Given the description of an element on the screen output the (x, y) to click on. 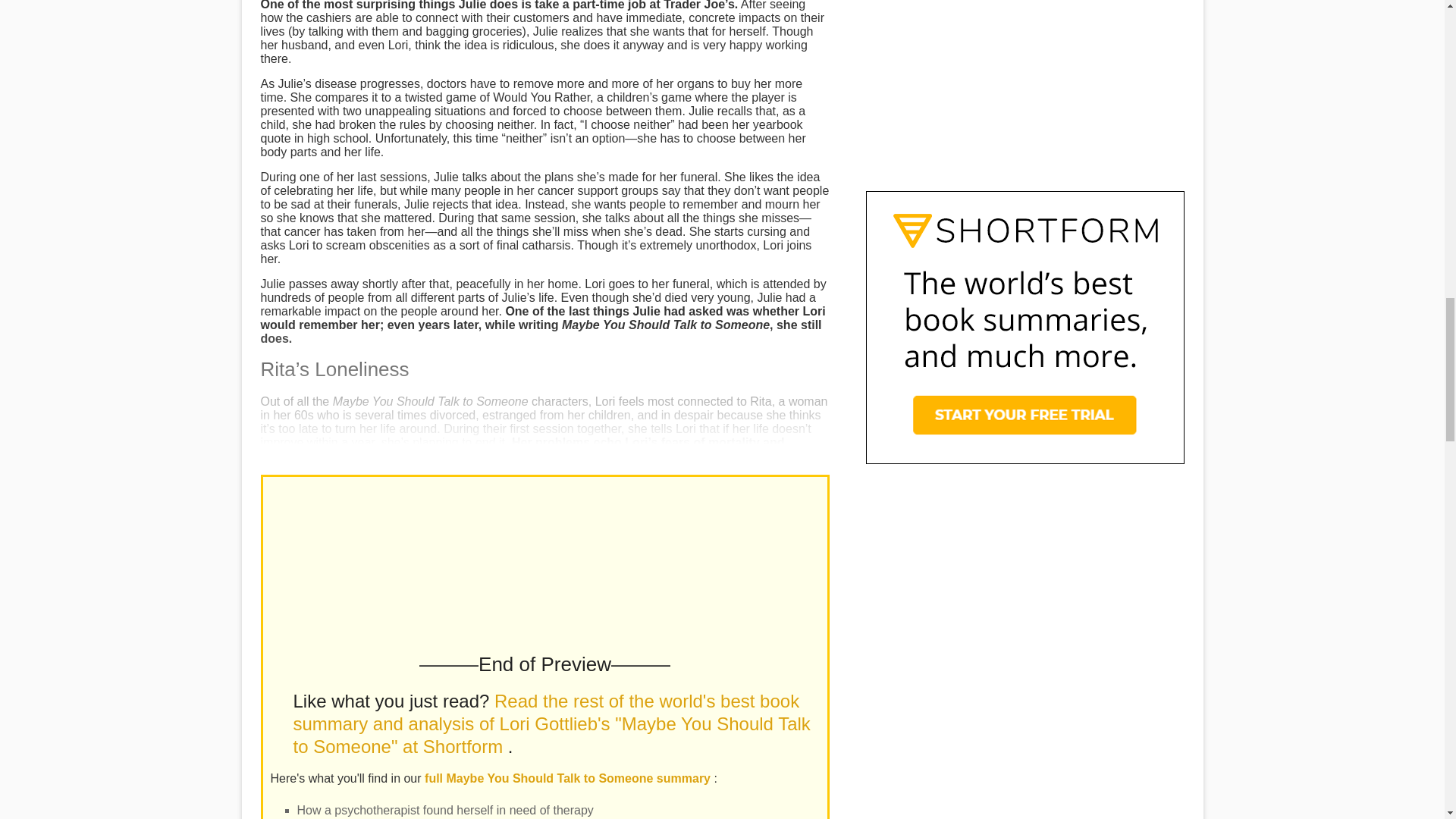
full Maybe You Should Talk to Someone summary (569, 778)
